Given the description of an element on the screen output the (x, y) to click on. 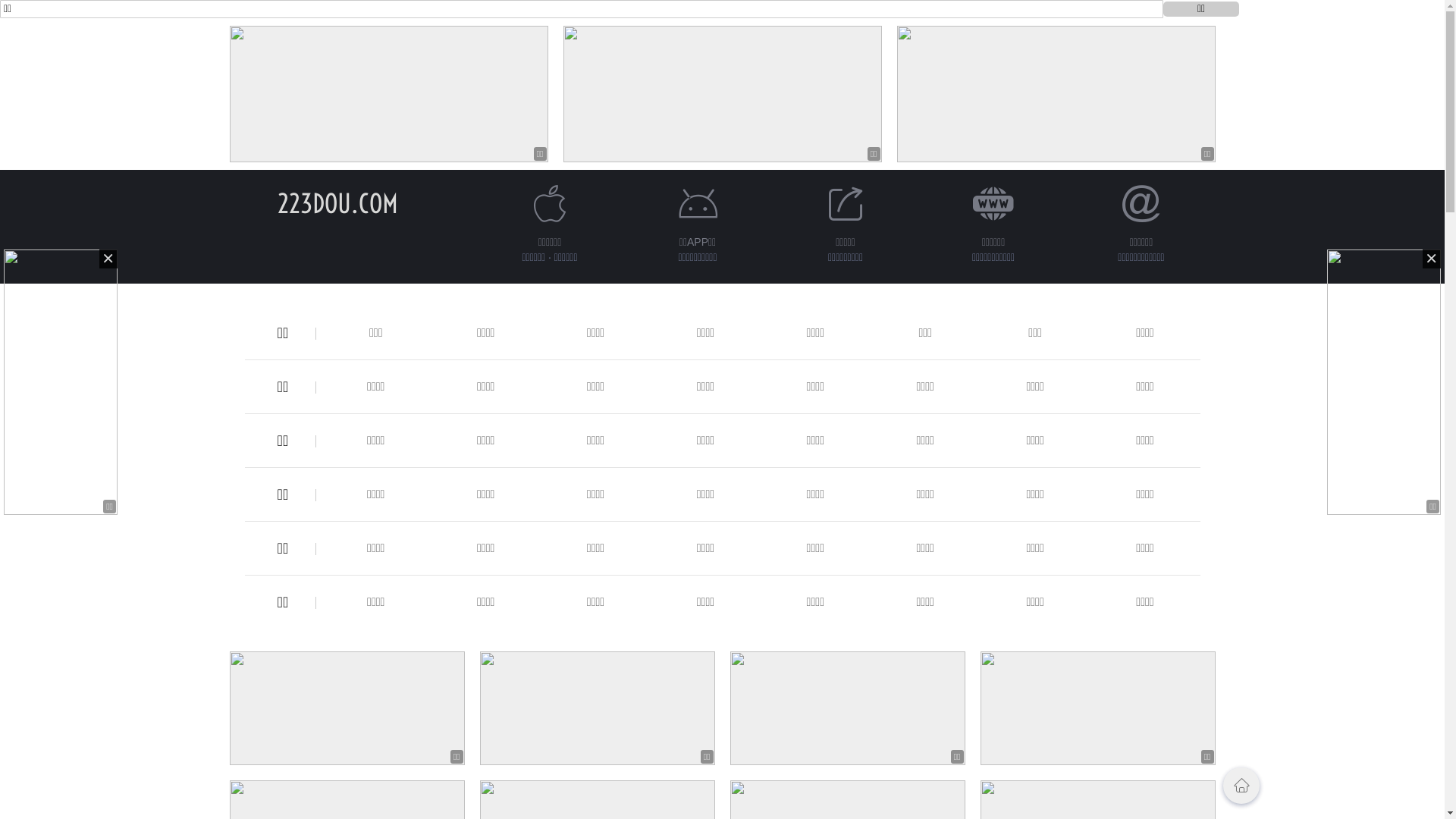
223DOU.COM Element type: text (337, 203)
